Given the description of an element on the screen output the (x, y) to click on. 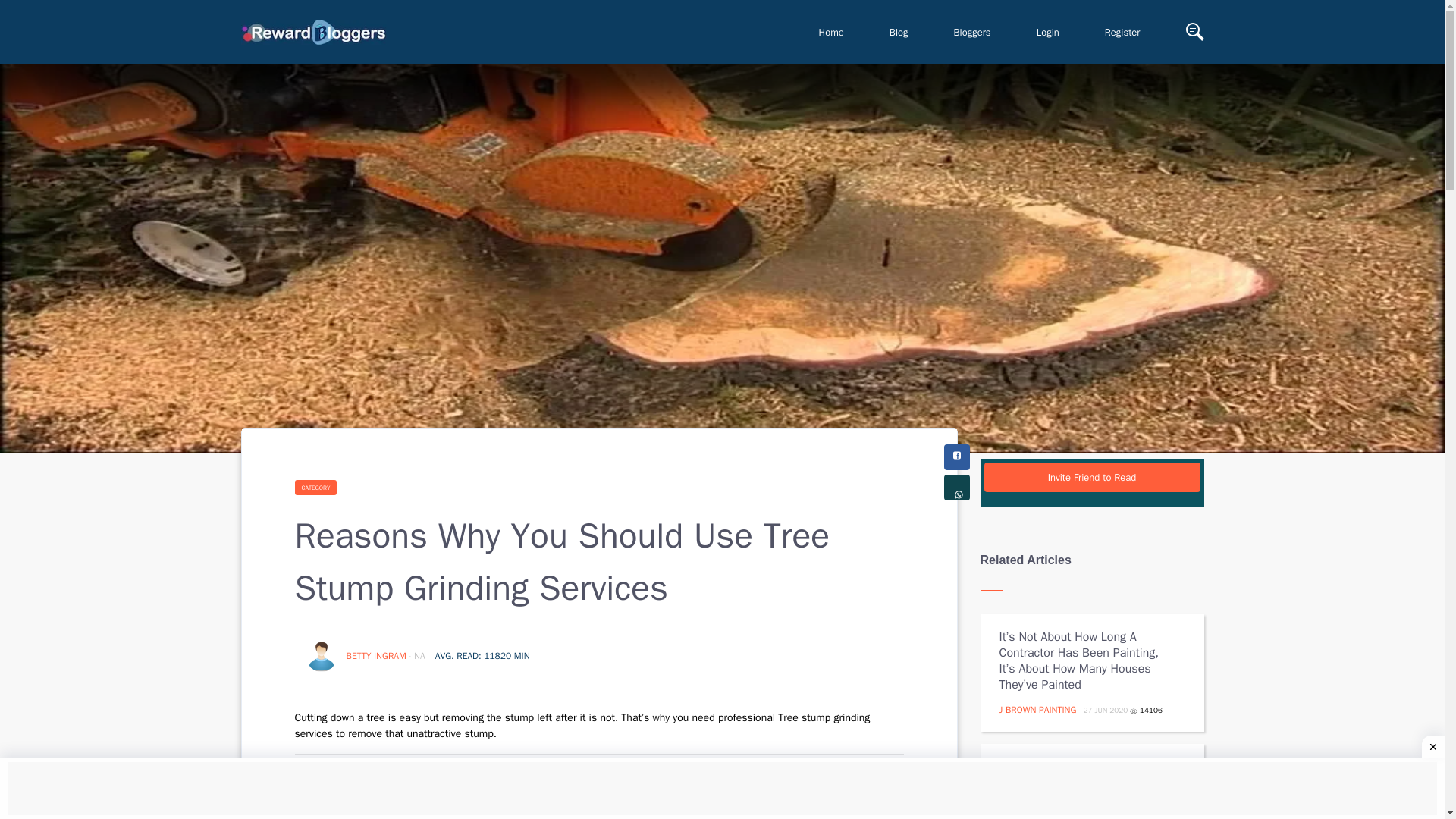
Bloggers (972, 31)
BETTY INGRAM (376, 655)
MARY JONES (1024, 808)
Blog (898, 31)
Advertisement (722, 790)
Invite Friend to Read (1091, 477)
Login (1047, 31)
Exploring The Benefits And Uses Of Bark Chippings (1080, 775)
Register (1122, 31)
CATEGORY (315, 487)
